Given the description of an element on the screen output the (x, y) to click on. 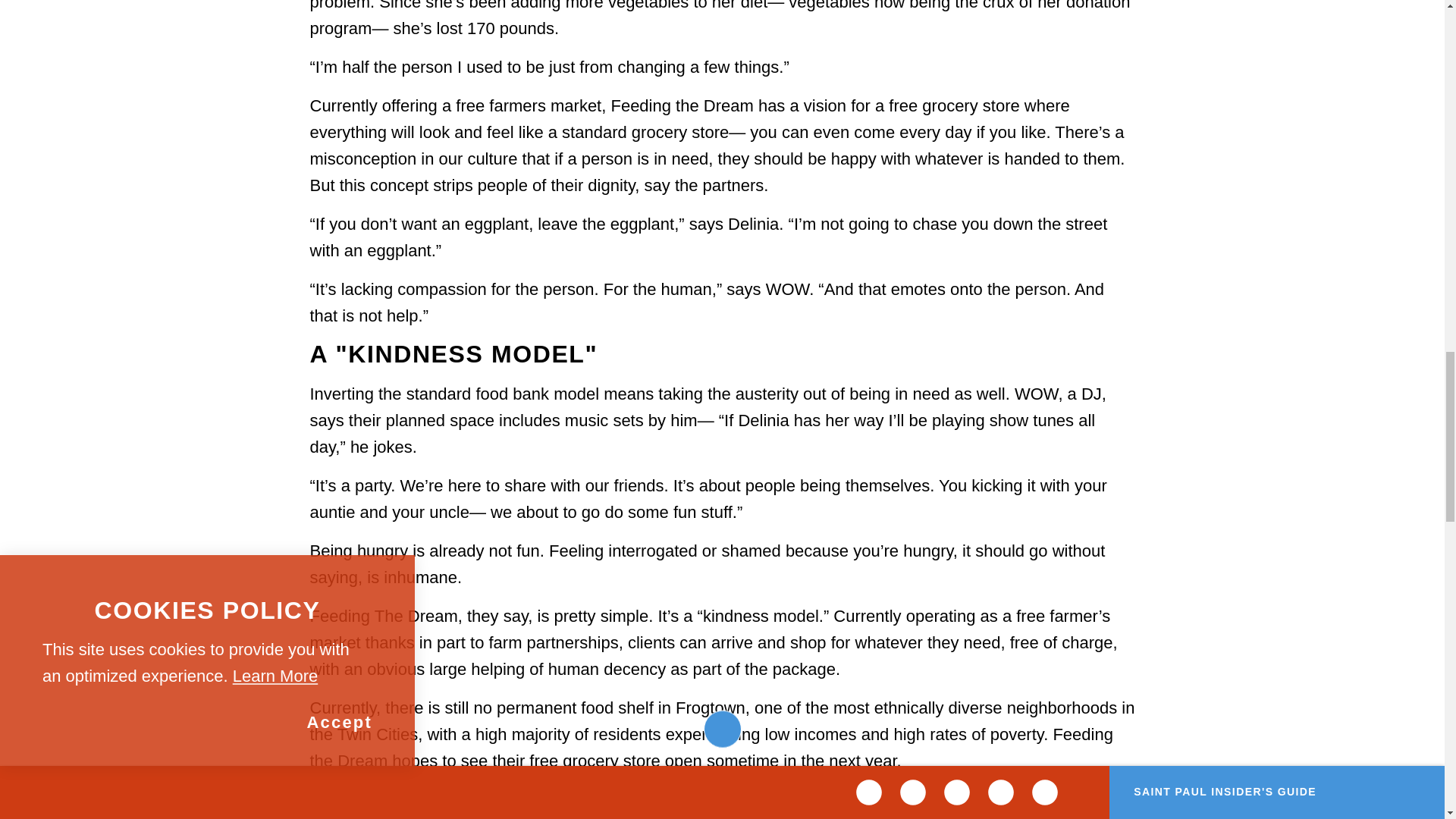
onate here. (547, 817)
Facebook Page (456, 799)
